Given the description of an element on the screen output the (x, y) to click on. 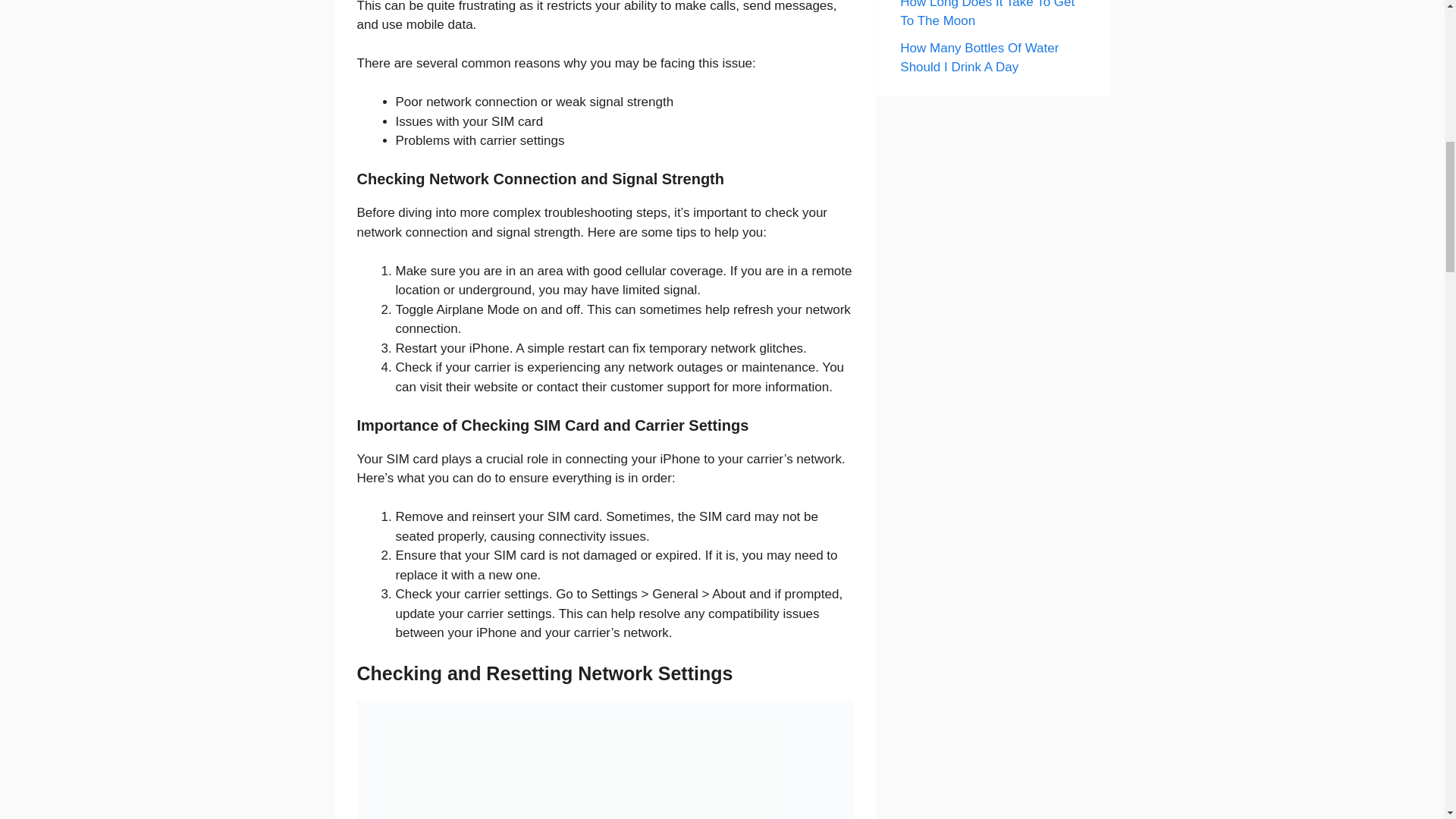
How Many Bottles Of Water Should I Drink A Day (978, 57)
How Long Does It Take To Get To The Moon (986, 13)
